Given the description of an element on the screen output the (x, y) to click on. 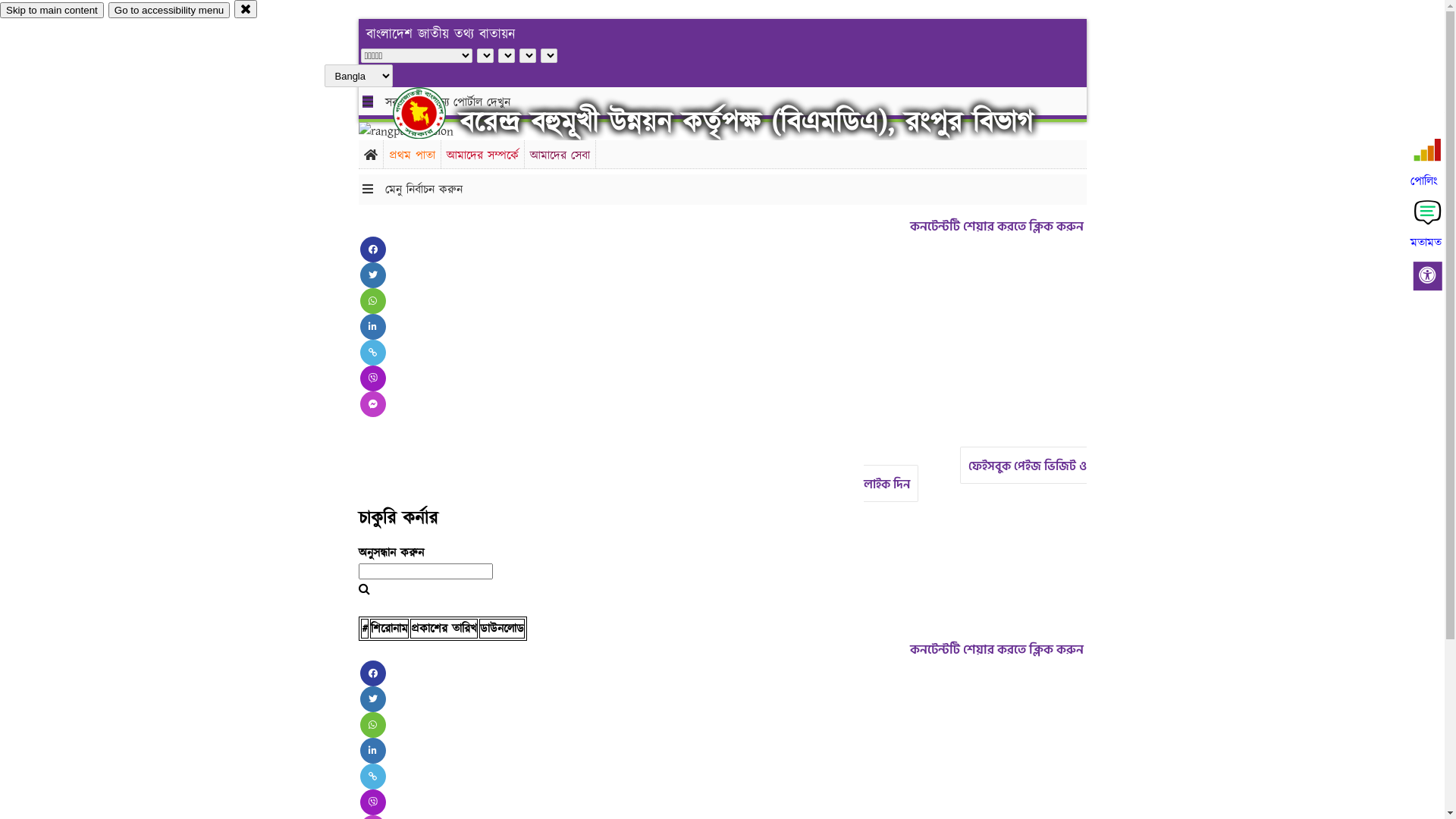

                
             Element type: hover (431, 112)
Skip to main content Element type: text (51, 10)
close Element type: hover (245, 9)
Go to accessibility menu Element type: text (168, 10)
